Given the description of an element on the screen output the (x, y) to click on. 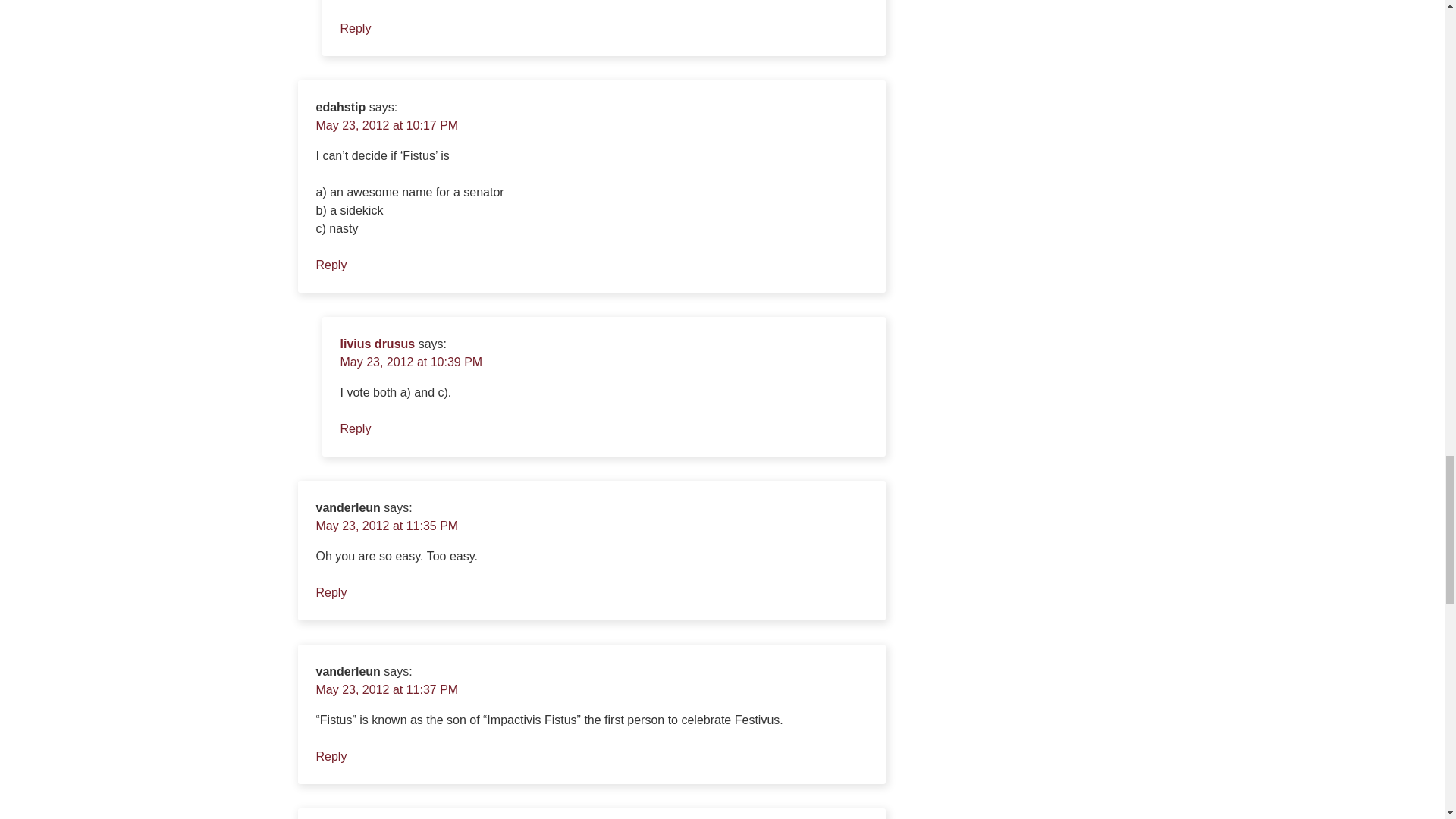
Reply (330, 264)
May 23, 2012 at 10:39 PM (410, 361)
May 23, 2012 at 11:35 PM (386, 525)
May 23, 2012 at 10:17 PM (386, 124)
Reply (330, 592)
Reply (330, 756)
livius drusus (376, 343)
Reply (355, 28)
May 23, 2012 at 11:37 PM (386, 689)
Reply (355, 428)
